Given the description of an element on the screen output the (x, y) to click on. 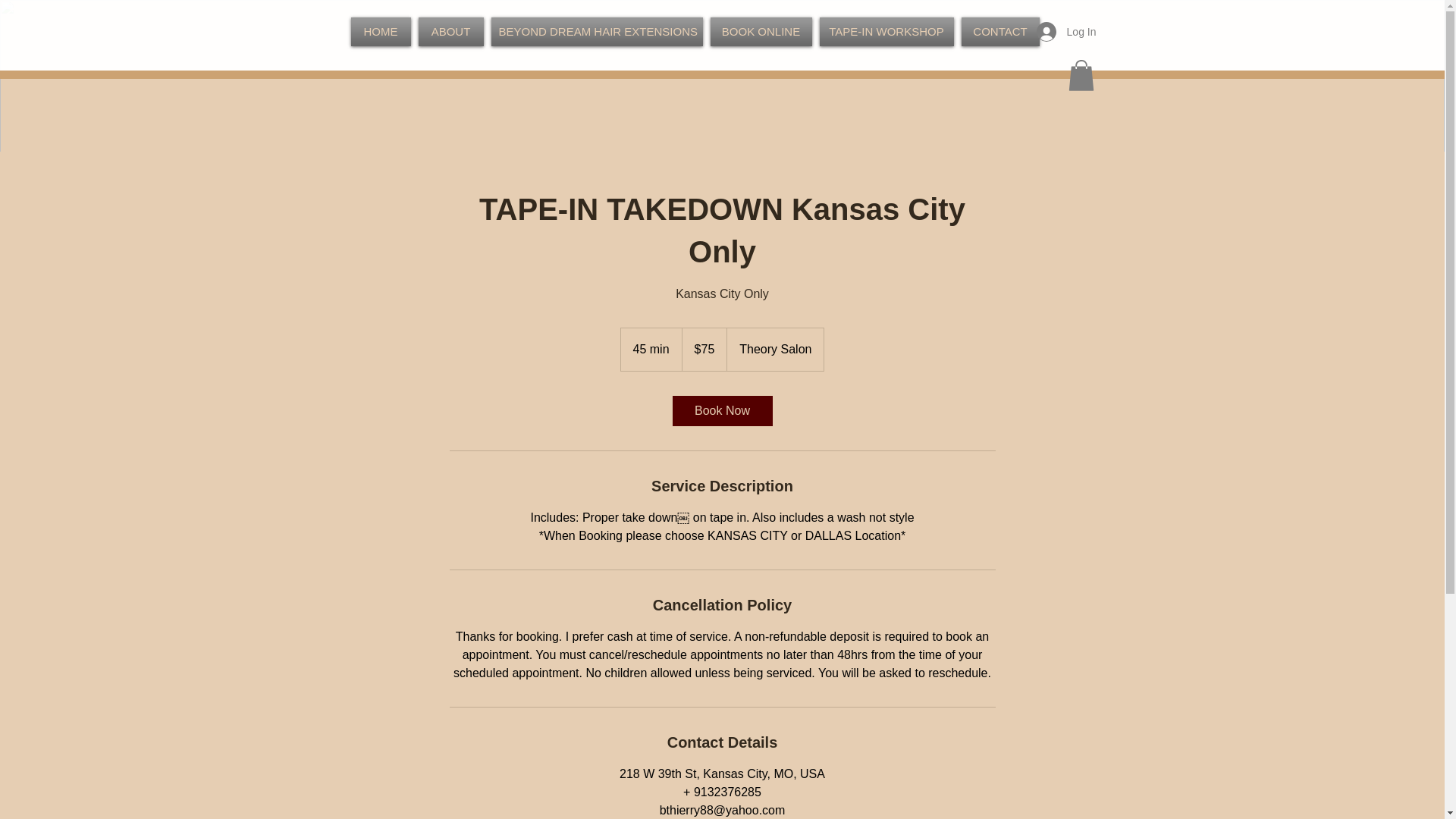
Book Now (721, 410)
BOOK ONLINE (760, 31)
Log In (1066, 31)
ABOUT (449, 31)
TAPE-IN WORKSHOP (886, 31)
BEYOND DREAM HAIR EXTENSIONS (596, 31)
HOME (381, 31)
CONTACT (997, 31)
